Given the description of an element on the screen output the (x, y) to click on. 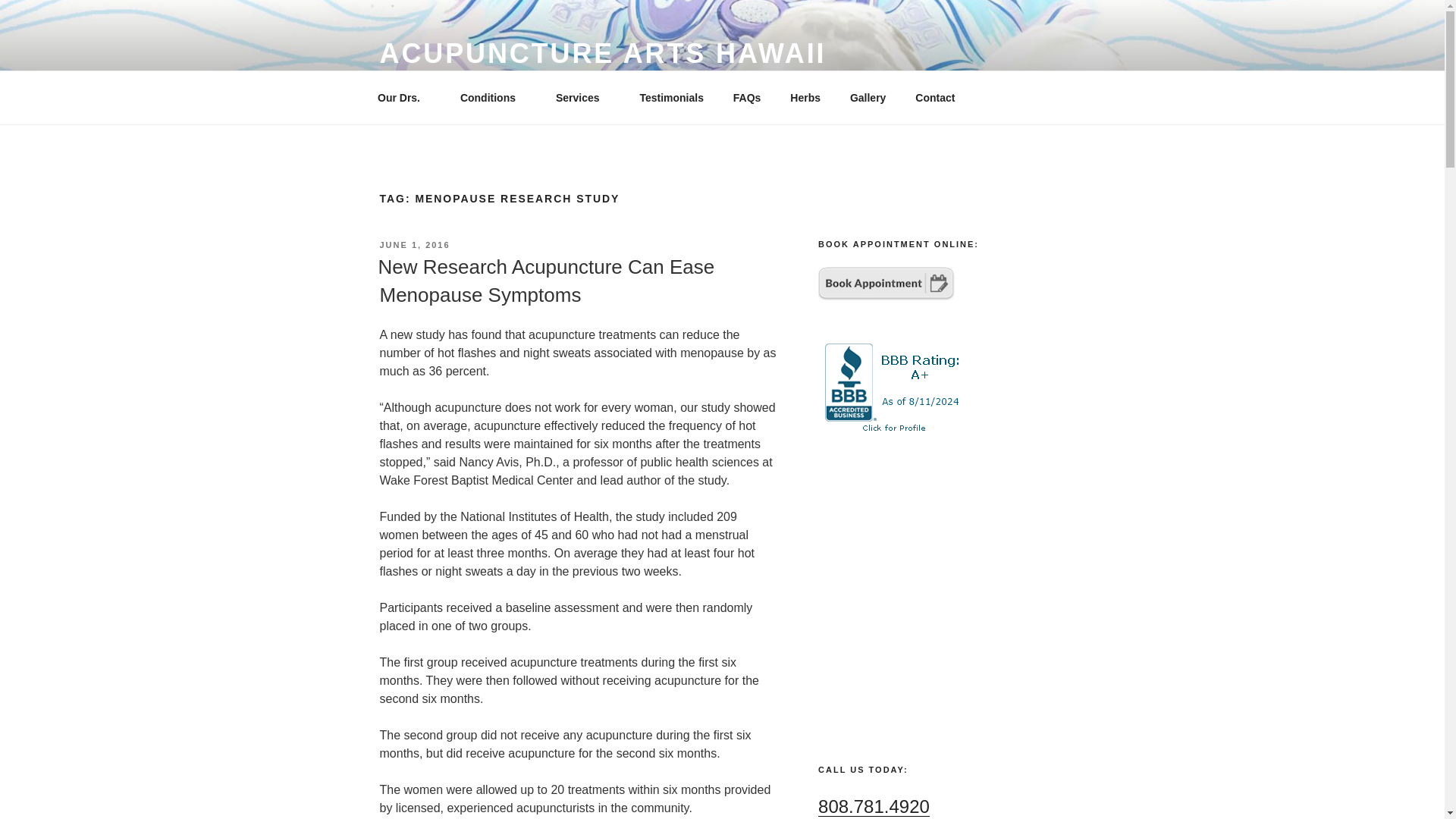
ACUPUNCTURE ARTS HAWAII (601, 52)
FAQs (746, 97)
JUNE 1, 2016 (413, 244)
Services (582, 97)
Contact (935, 97)
Gallery (866, 97)
YouTube video player (941, 591)
Services (582, 97)
New Research Acupuncture Can Ease Menopause Symptoms (545, 280)
Conditions (492, 97)
